Given the description of an element on the screen output the (x, y) to click on. 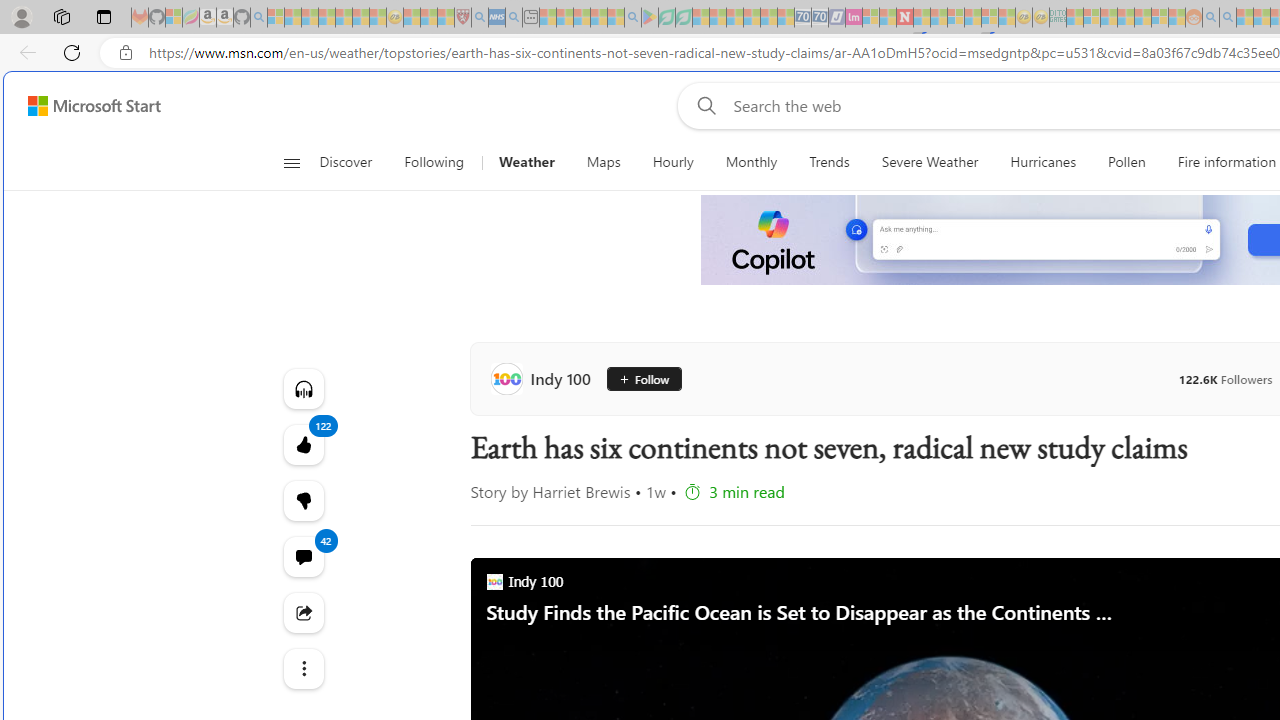
google - Search - Sleeping (632, 17)
